Given the description of an element on the screen output the (x, y) to click on. 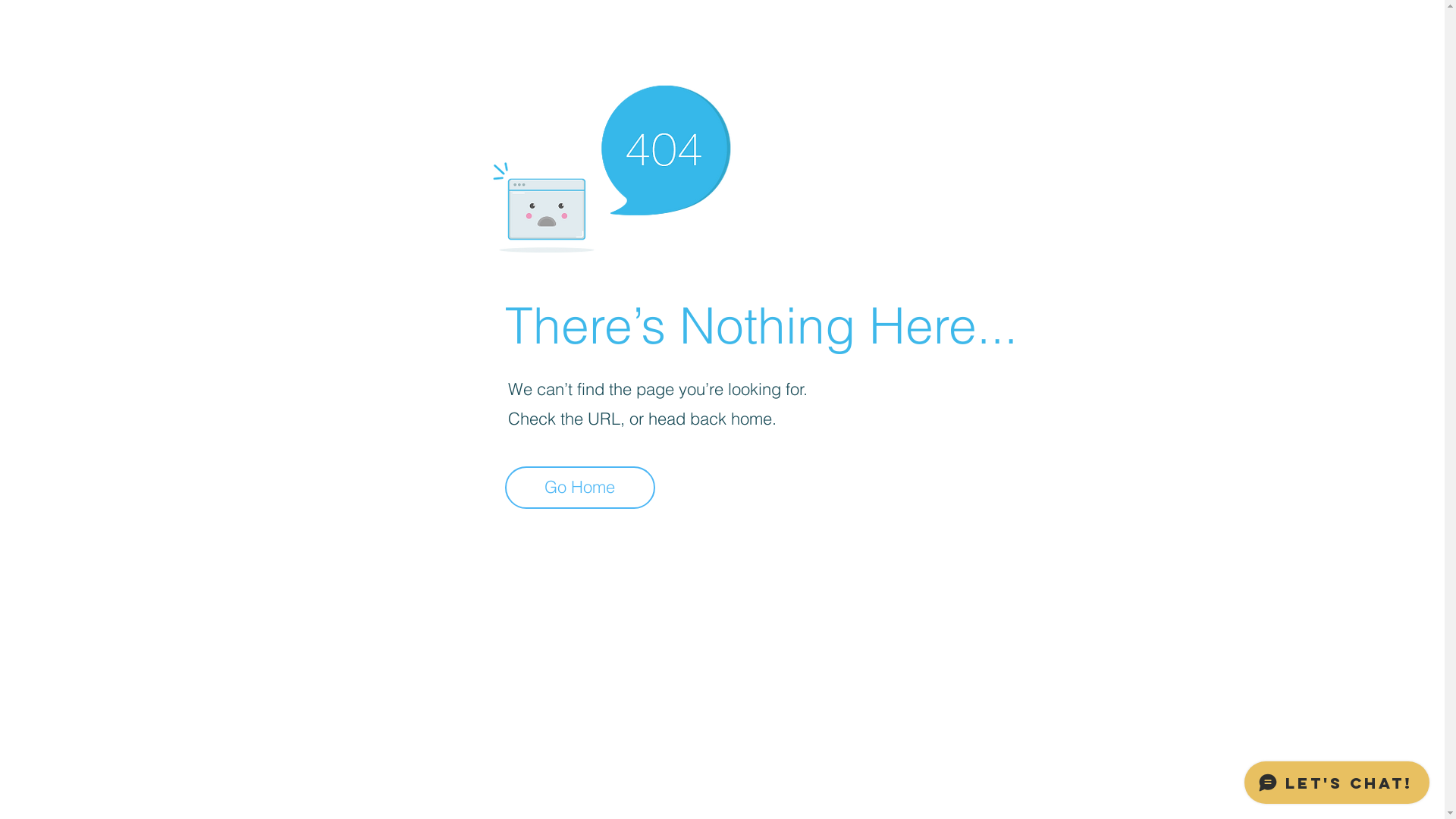
Go Home Element type: text (580, 487)
404-icon_2.png Element type: hover (610, 164)
